Given the description of an element on the screen output the (x, y) to click on. 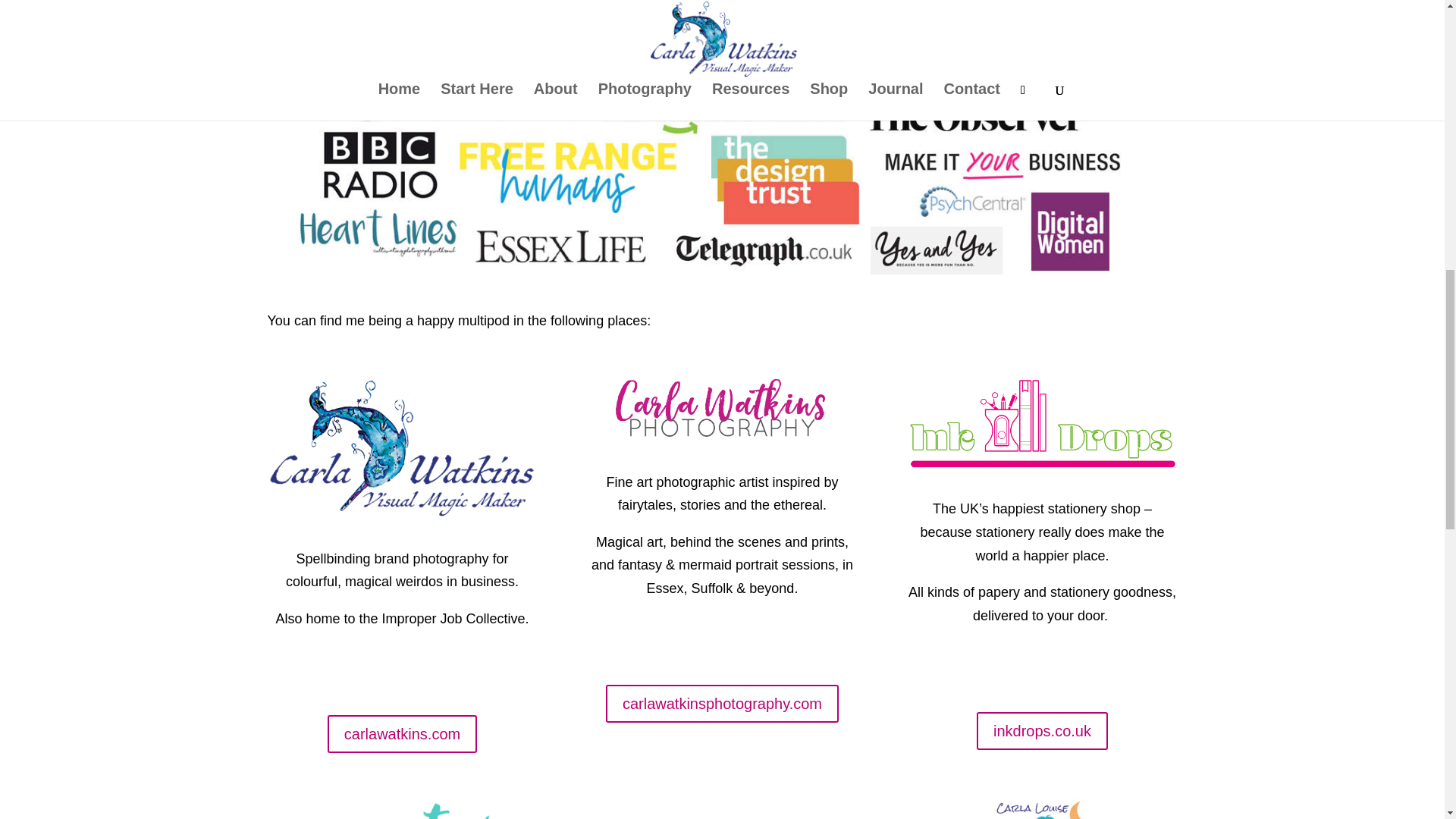
Follow on Pinterest (401, 671)
Follow on Facebook (432, 671)
carlawatkins.com (402, 733)
carla watkins brand photography logo 400px (401, 449)
carlawatkinsphotography.com (721, 703)
Follow on Instagram (675, 641)
Follow on Twitter (461, 671)
Follow on Twitter (766, 641)
Follow on Pinterest (737, 641)
